Given the description of an element on the screen output the (x, y) to click on. 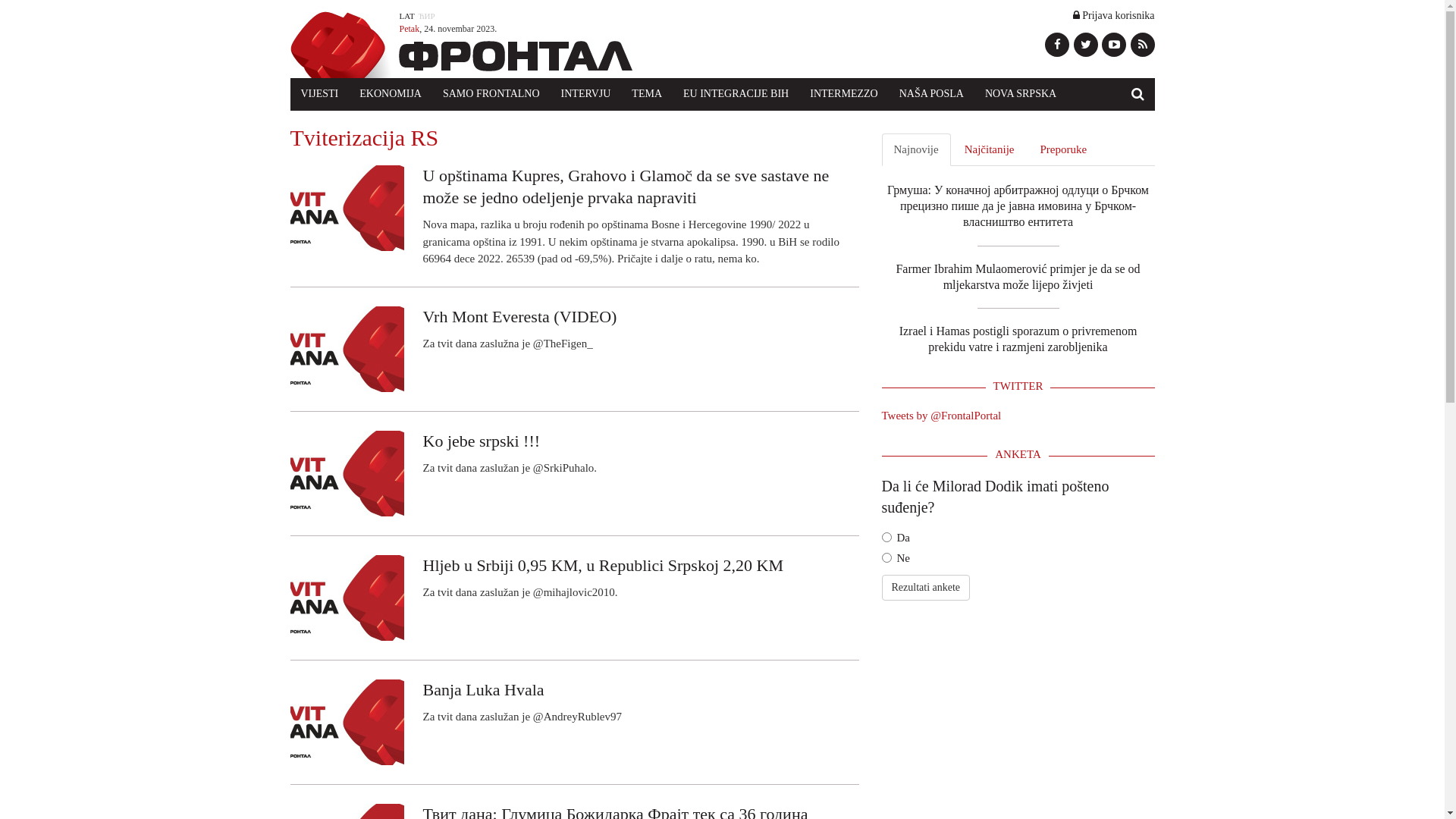
EU INTEGRACIJE BIH Element type: text (735, 94)
Prijava korisnika Element type: text (1113, 15)
VIJESTI Element type: text (318, 94)
Tweets by @FrontalPortal Element type: text (941, 415)
Najnovije Element type: text (915, 149)
Preporuke Element type: text (1062, 149)
Hljeb u Srbiji 0,95 KM, u Republici Srpskoj 2,20 KM Element type: text (573, 577)
1373 Element type: text (886, 537)
Vrh Mont Everesta (VIDEO) Element type: text (573, 328)
1374 Element type: text (886, 557)
Rezultati ankete Element type: text (925, 587)
NOVA SRPSKA Element type: text (1020, 94)
INTERMEZZO Element type: text (843, 94)
INTERVJU Element type: text (585, 94)
TEMA Element type: text (646, 94)
Ko jebe srpski !!! Element type: text (573, 452)
EKONOMIJA Element type: text (390, 94)
SAMO FRONTALNO Element type: text (491, 94)
Banja Luka Hvala Element type: text (573, 701)
LAT Element type: text (406, 15)
